Given the description of an element on the screen output the (x, y) to click on. 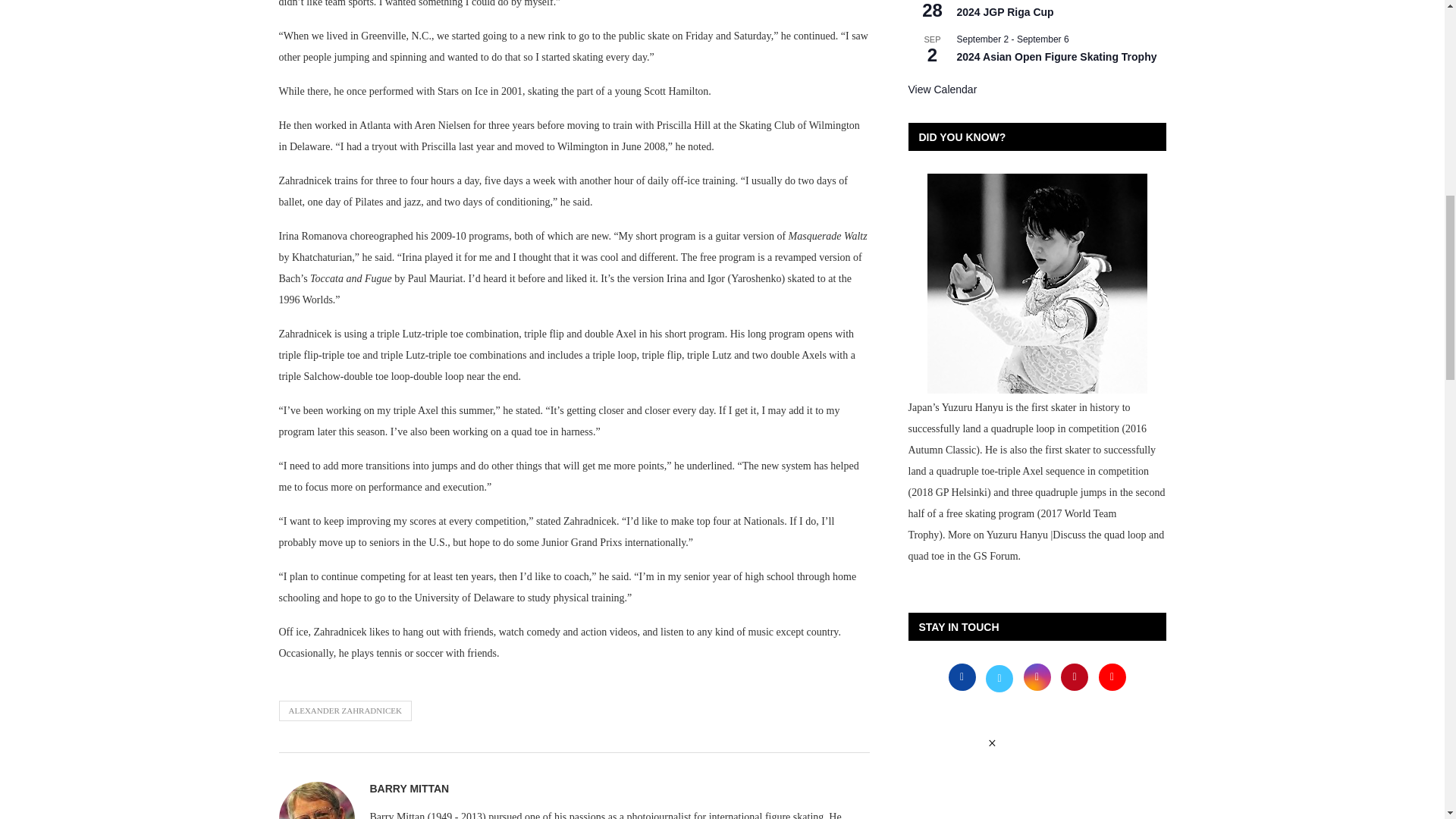
Author Barry Mittan (409, 789)
